Given the description of an element on the screen output the (x, y) to click on. 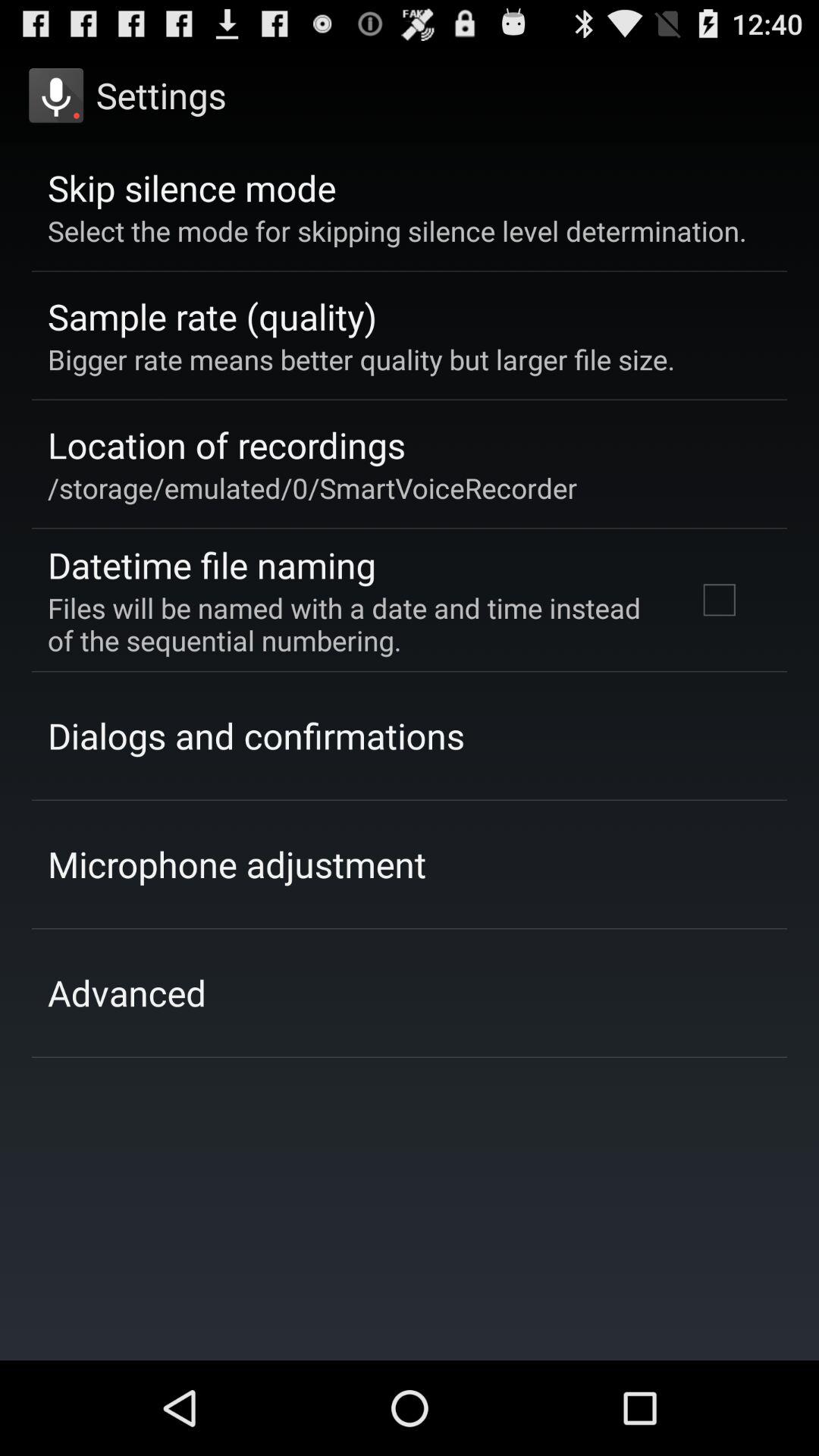
scroll to the microphone adjustment item (236, 864)
